Given the description of an element on the screen output the (x, y) to click on. 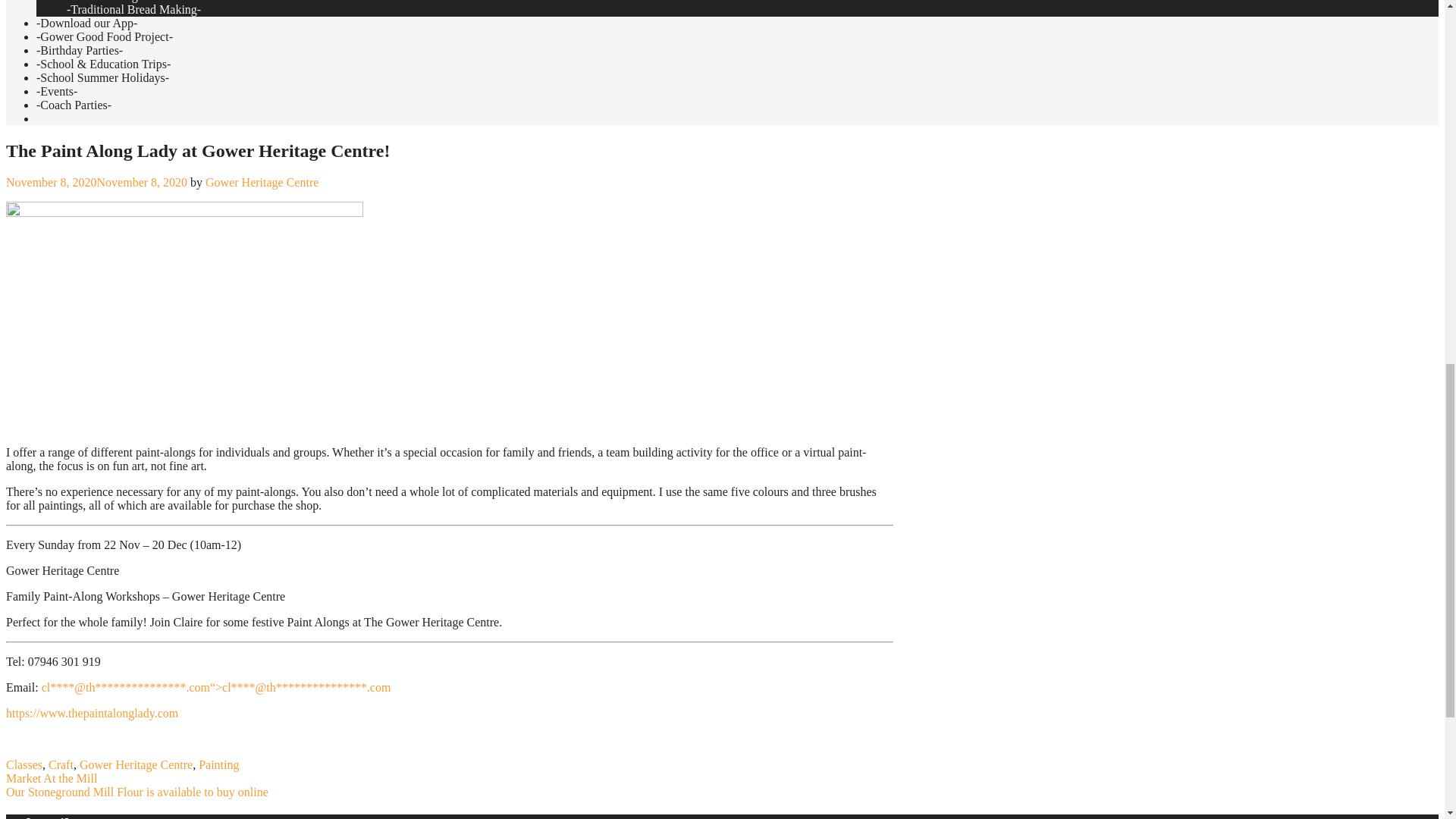
Previous (51, 778)
Next (136, 791)
View all posts by Gower Heritage Centre (261, 182)
3:06 pm (96, 182)
